Given the description of an element on the screen output the (x, y) to click on. 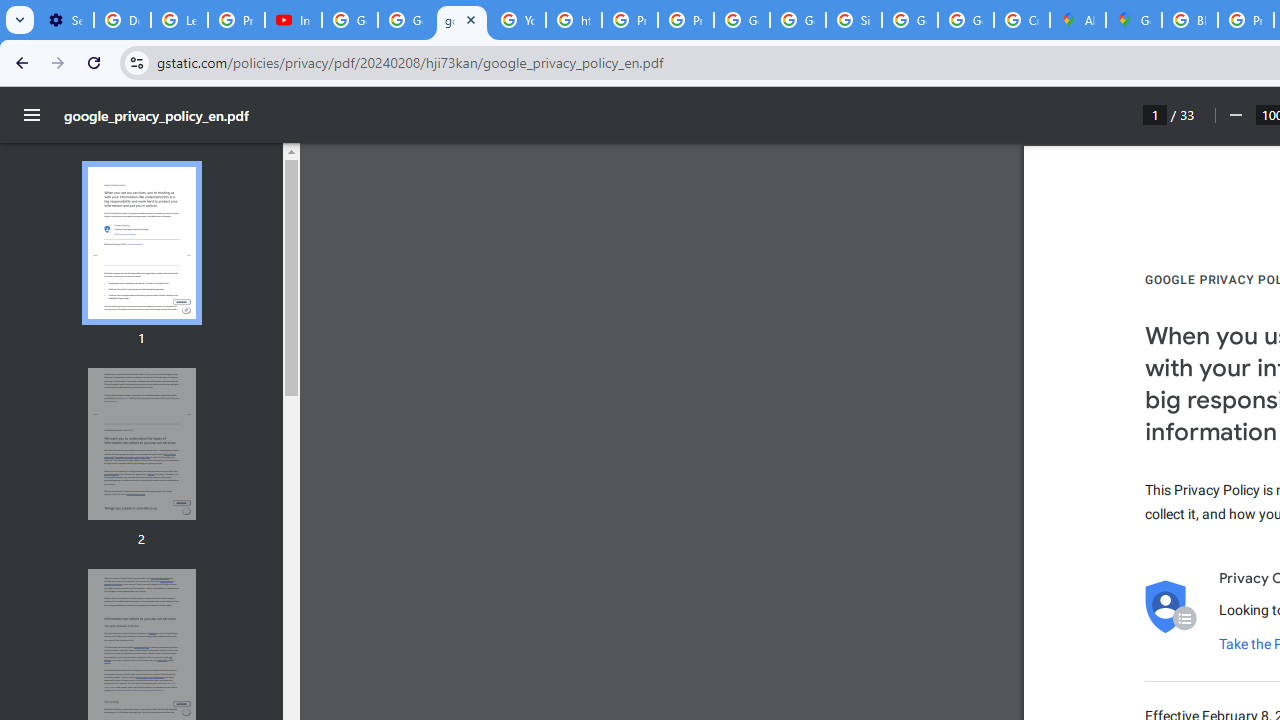
Delete photos & videos - Computer - Google Photos Help (122, 20)
Page number (1155, 114)
